Given the description of an element on the screen output the (x, y) to click on. 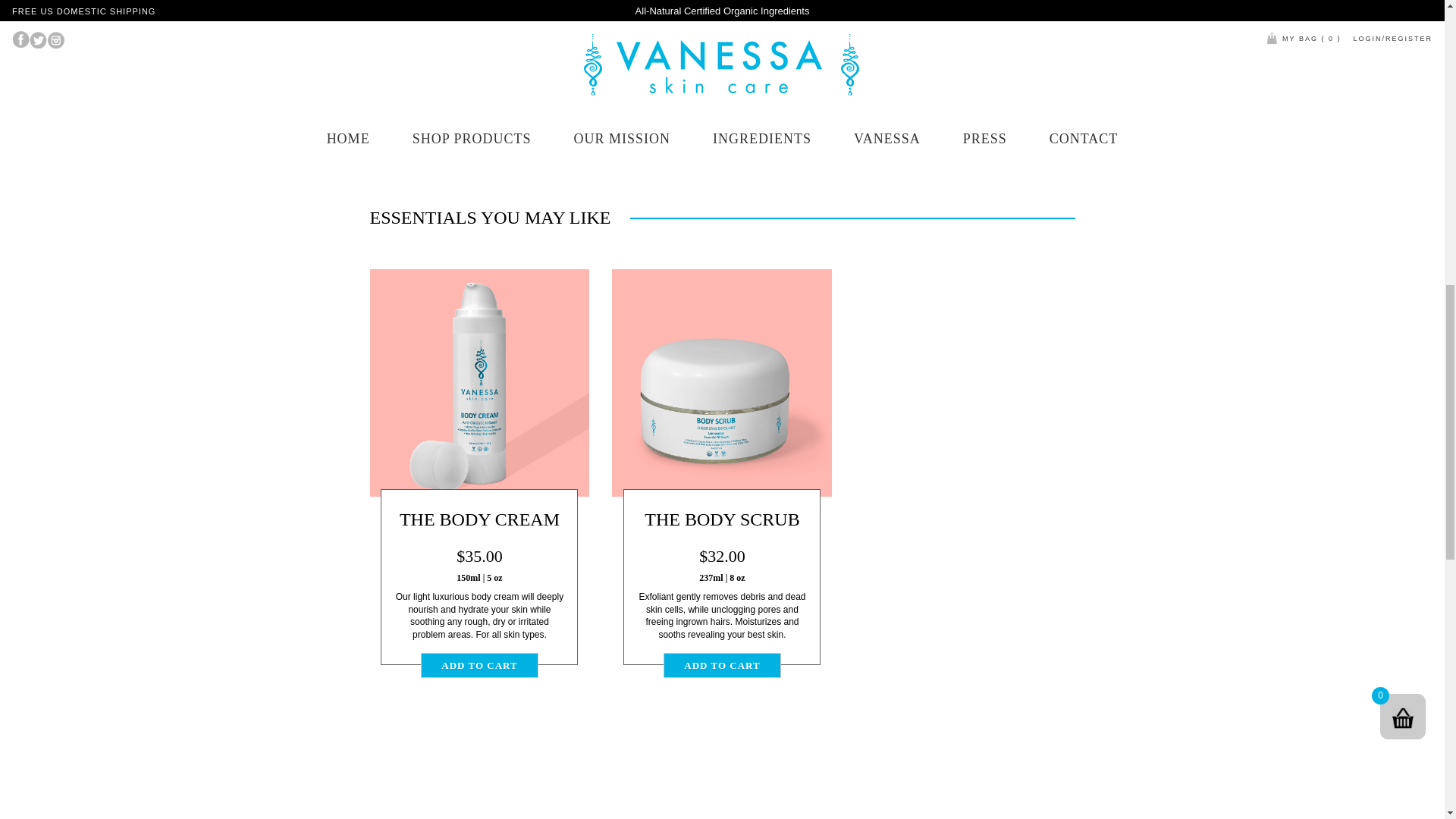
ADD TO CART (479, 665)
HOW TO USE (934, 11)
ADD TO CART (721, 665)
SPOTLIGHT KEY INGREDIENTS (934, 50)
